Given the description of an element on the screen output the (x, y) to click on. 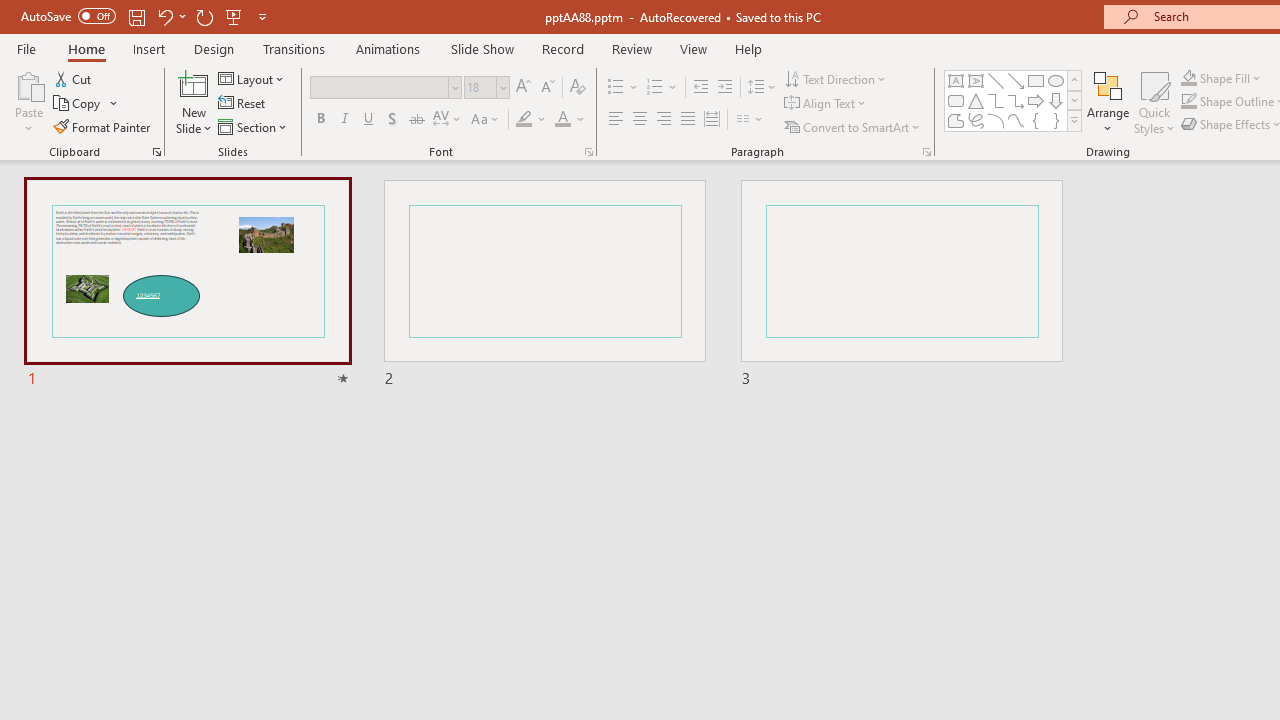
Distributed (712, 119)
Line Arrow (1016, 80)
Bold (320, 119)
Left Brace (1035, 120)
Arrow: Down (1055, 100)
Italic (344, 119)
Decrease Font Size (547, 87)
Text Direction (836, 78)
Quick Styles (1154, 102)
Arrow: Right (1035, 100)
